Given the description of an element on the screen output the (x, y) to click on. 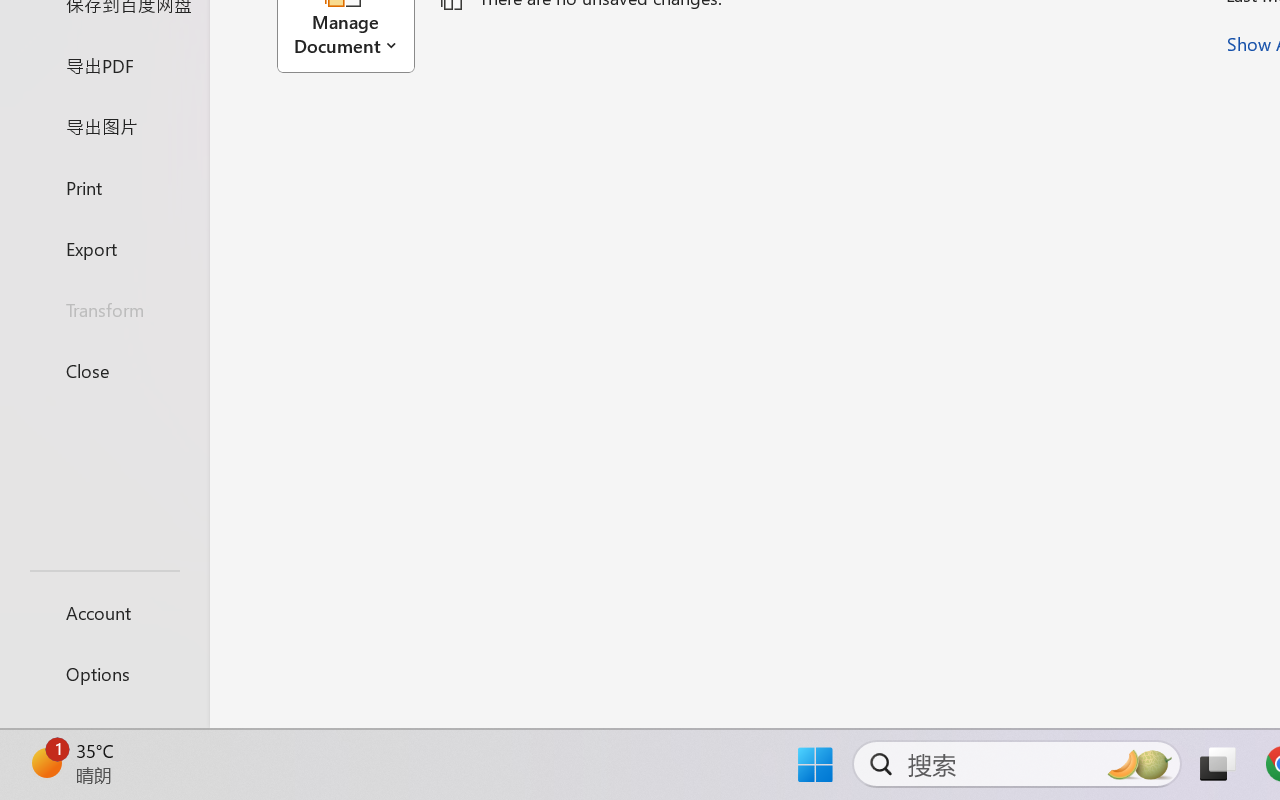
Account (104, 612)
Options (104, 673)
Export (104, 248)
Transform (104, 309)
Print (104, 186)
